Given the description of an element on the screen output the (x, y) to click on. 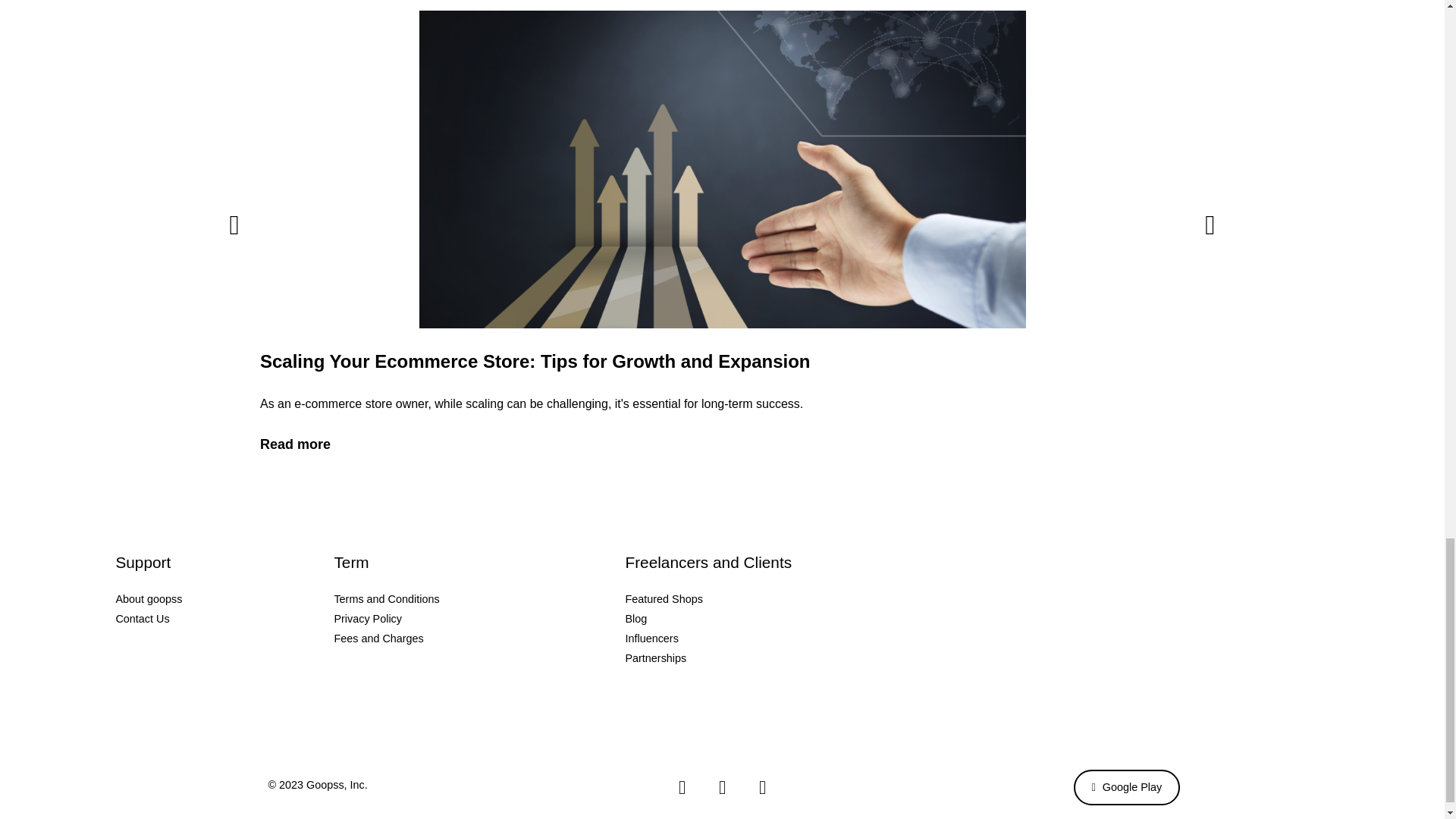
Influencers (800, 638)
Contact Us (224, 618)
Read more (294, 444)
Partnerships (800, 658)
Fees and Charges (478, 638)
Blog (800, 618)
Terms and Conditions (478, 598)
About goopss (224, 598)
Privacy Policy (478, 618)
Featured Shops (800, 598)
